Given the description of an element on the screen output the (x, y) to click on. 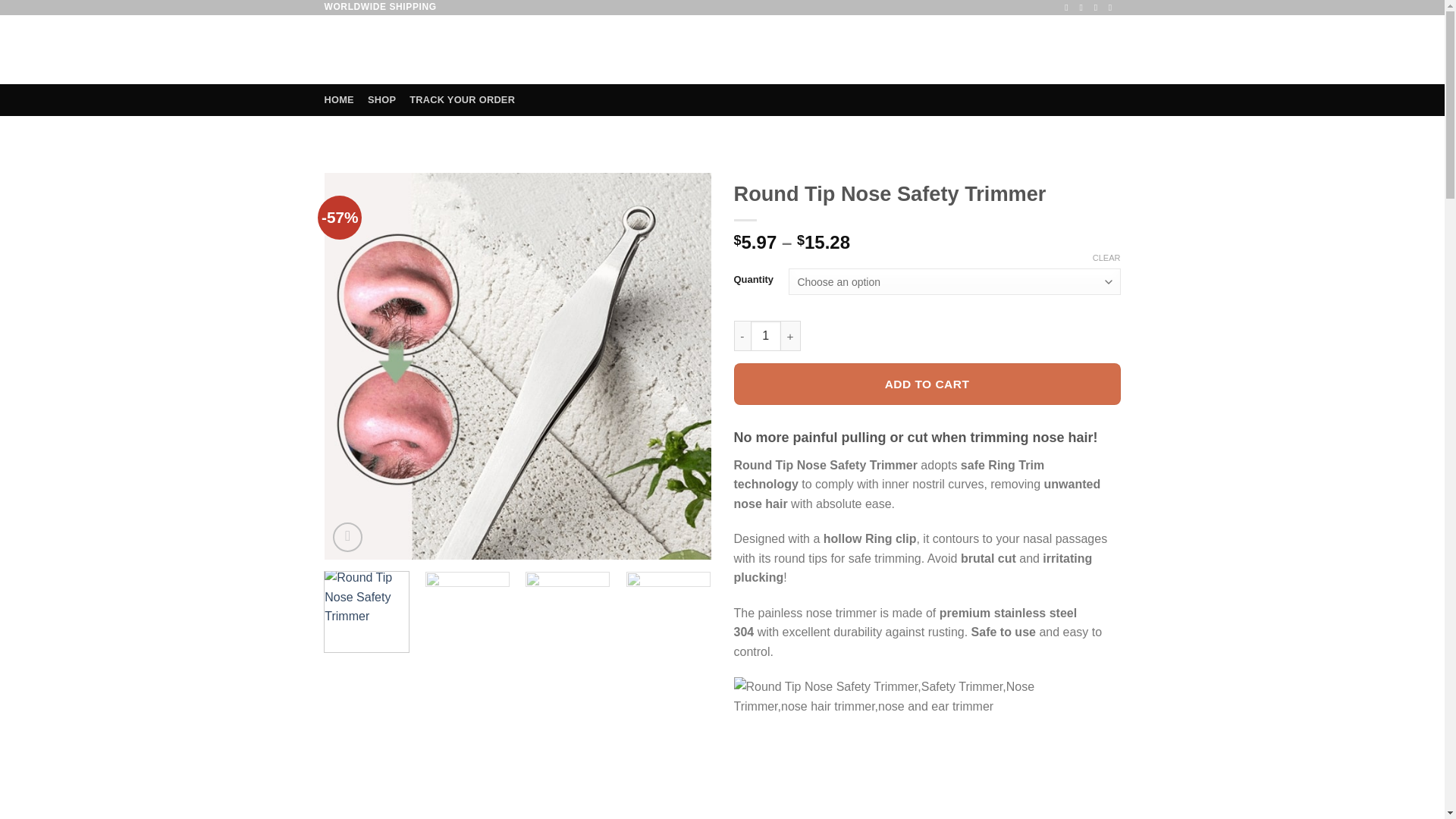
COLENTO (386, 49)
HOME (338, 100)
Login (1000, 49)
ADD TO CART (927, 383)
CLEAR (1107, 257)
Colento - Smart Shop Center (386, 49)
Zoom (347, 537)
LOGIN (1000, 49)
Cart (1079, 49)
TRACK YOUR ORDER (462, 100)
